Given the description of an element on the screen output the (x, y) to click on. 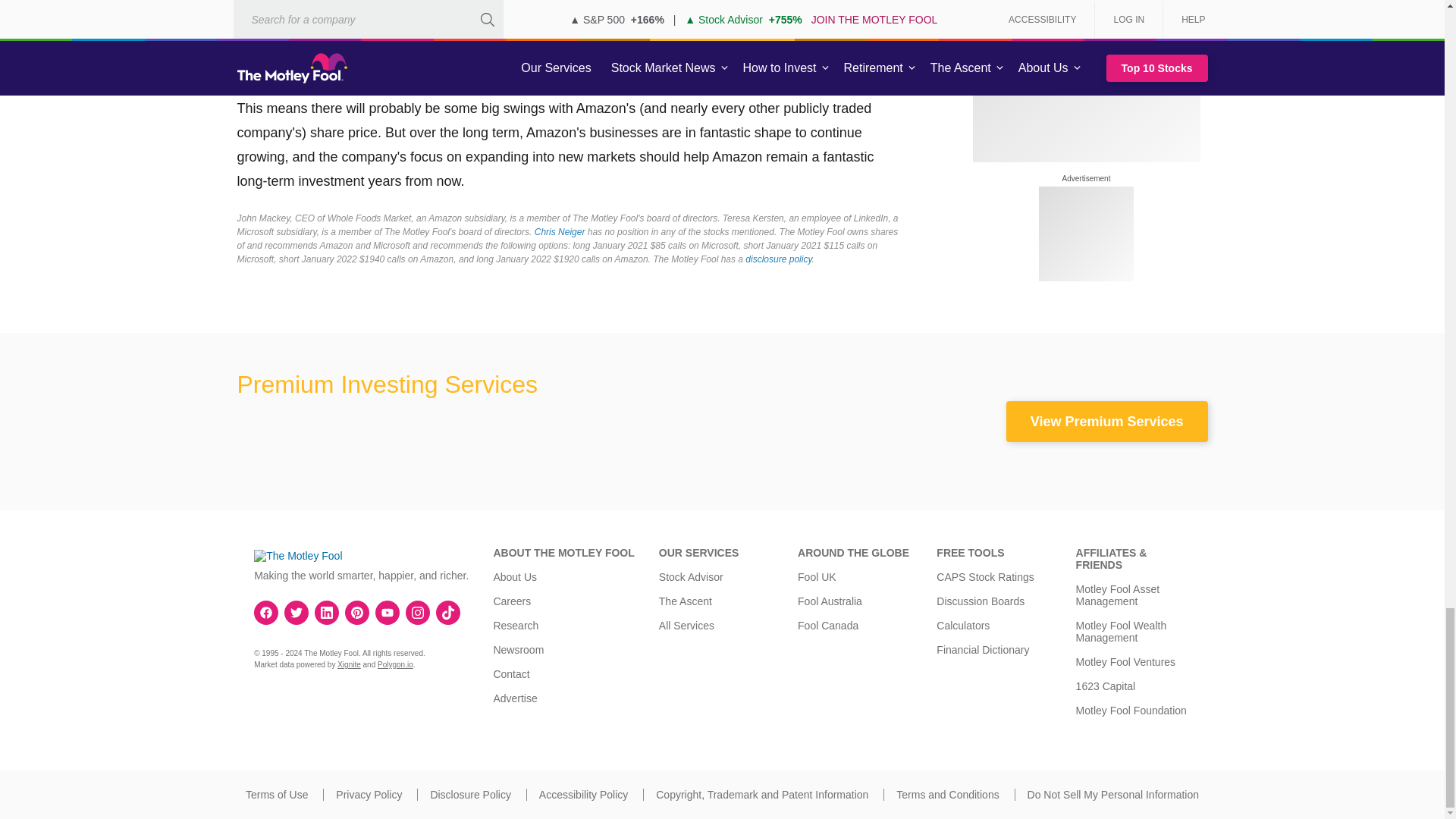
Privacy Policy (368, 794)
Terms and Conditions (947, 794)
Accessibility Policy (582, 794)
Do Not Sell My Personal Information. (1112, 794)
Terms of Use (276, 794)
Disclosure Policy (470, 794)
Copyright, Trademark and Patent Information (761, 794)
